Given the description of an element on the screen output the (x, y) to click on. 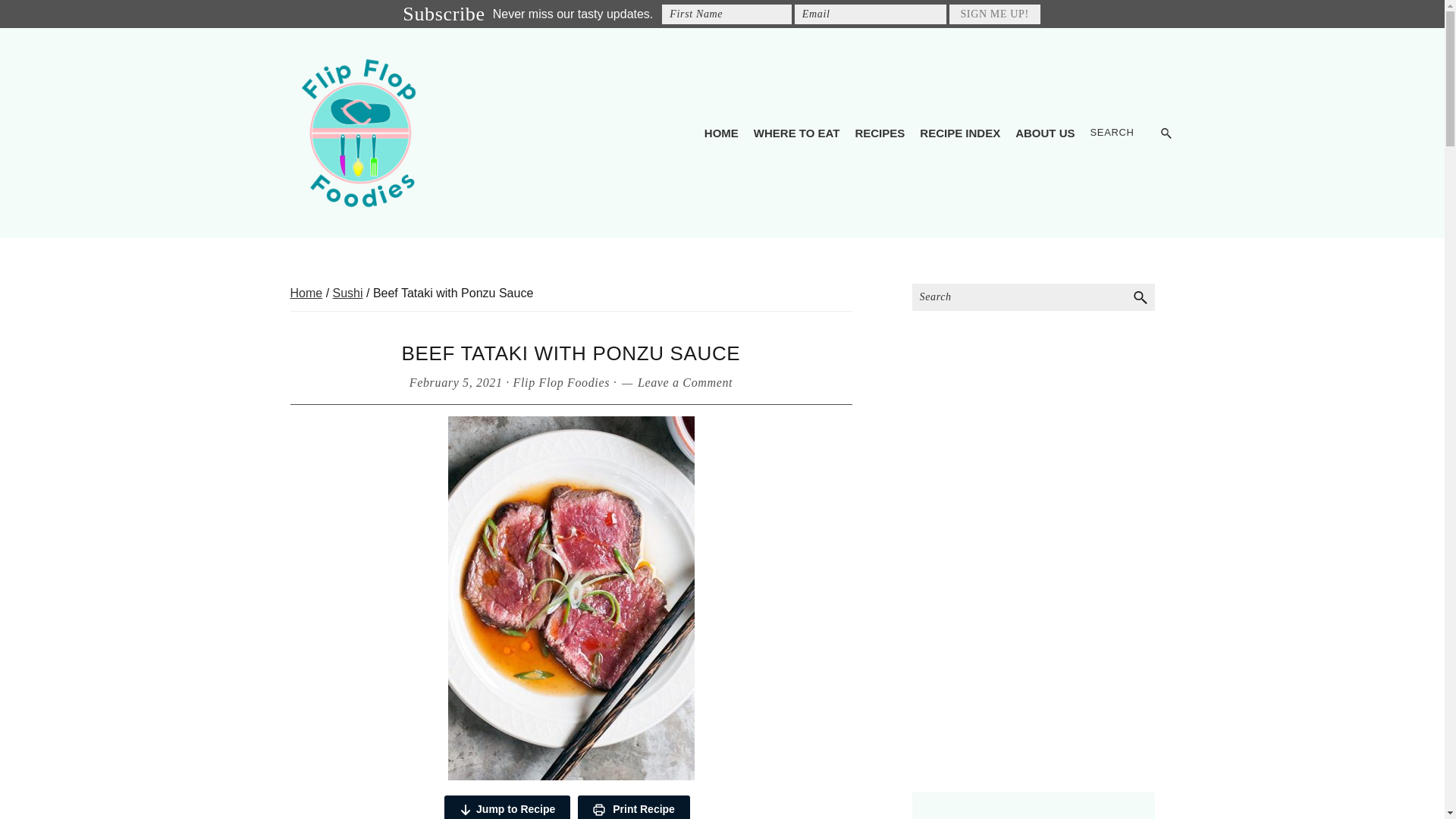
SIGN ME UP! (995, 14)
Advertisement (1032, 669)
SIGN ME UP! (995, 14)
